Given the description of an element on the screen output the (x, y) to click on. 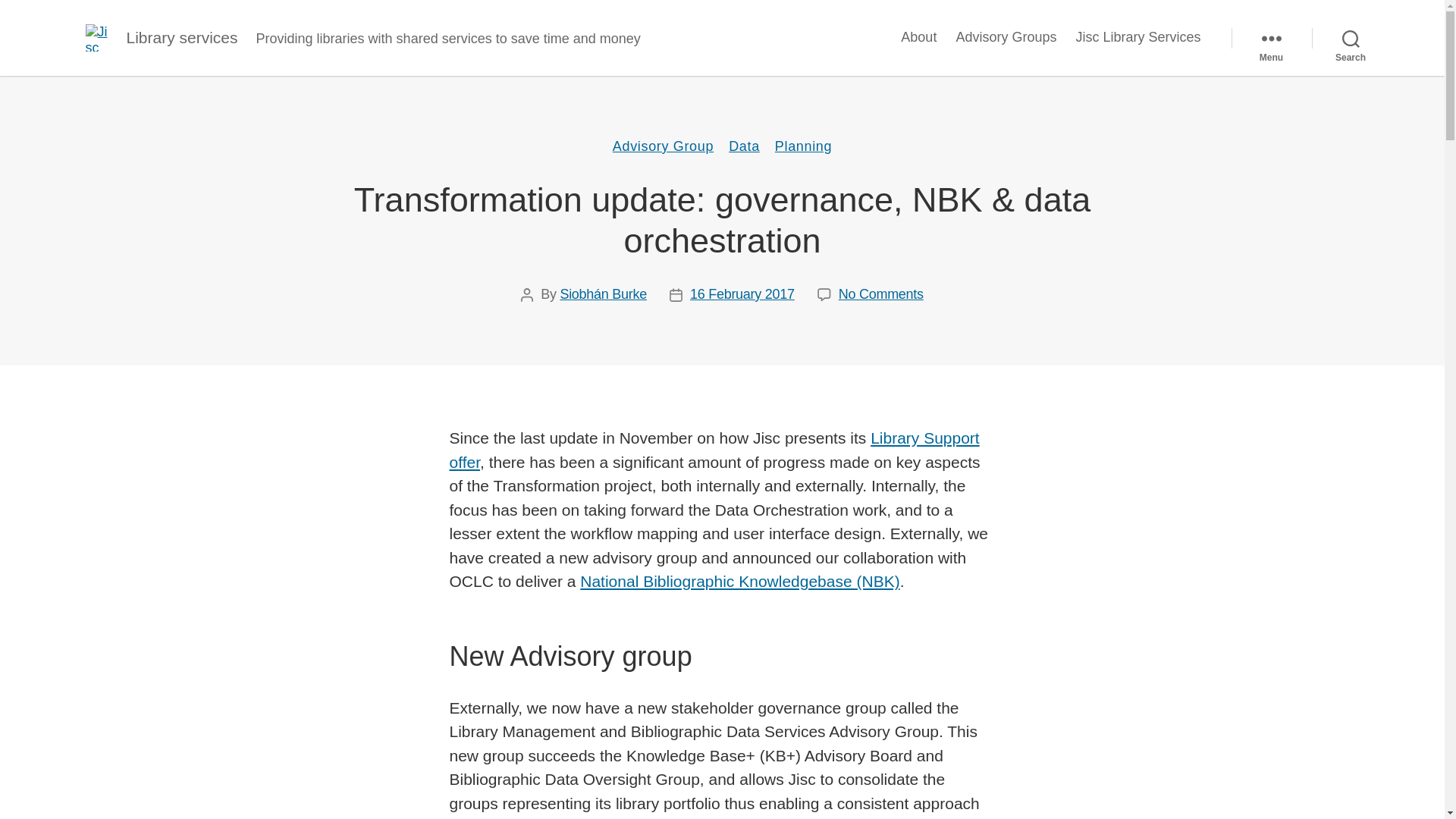
Advisory Group (662, 146)
Advisory Groups (1006, 37)
Planning (802, 146)
Search (1350, 37)
Jisc Library Services (1137, 37)
Go to the Jisc homepage (98, 37)
16 February 2017 (742, 294)
Library services (181, 36)
About (918, 37)
Data (744, 146)
